Given the description of an element on the screen output the (x, y) to click on. 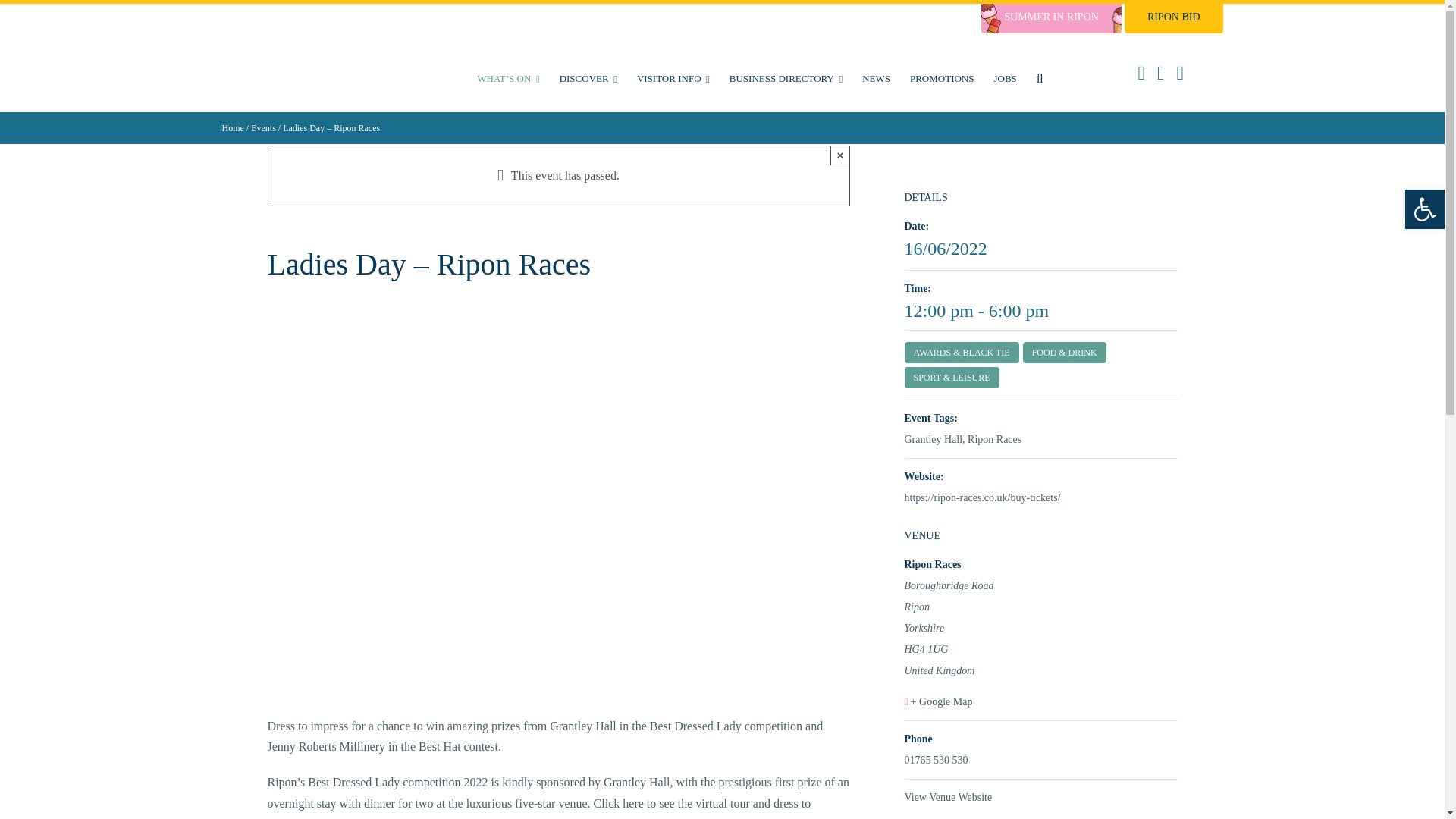
BUSINESS DIRECTORY (785, 78)
Search (1039, 78)
2022-06-16 (1040, 310)
SUMMER IN RIPON (1051, 18)
Facebook (1141, 73)
RIPON BID (1173, 18)
Accessibility Tools (1424, 209)
Click to view a Google Map (1039, 701)
2022-06-16 (945, 248)
Yorkshire (1039, 628)
